Given the description of an element on the screen output the (x, y) to click on. 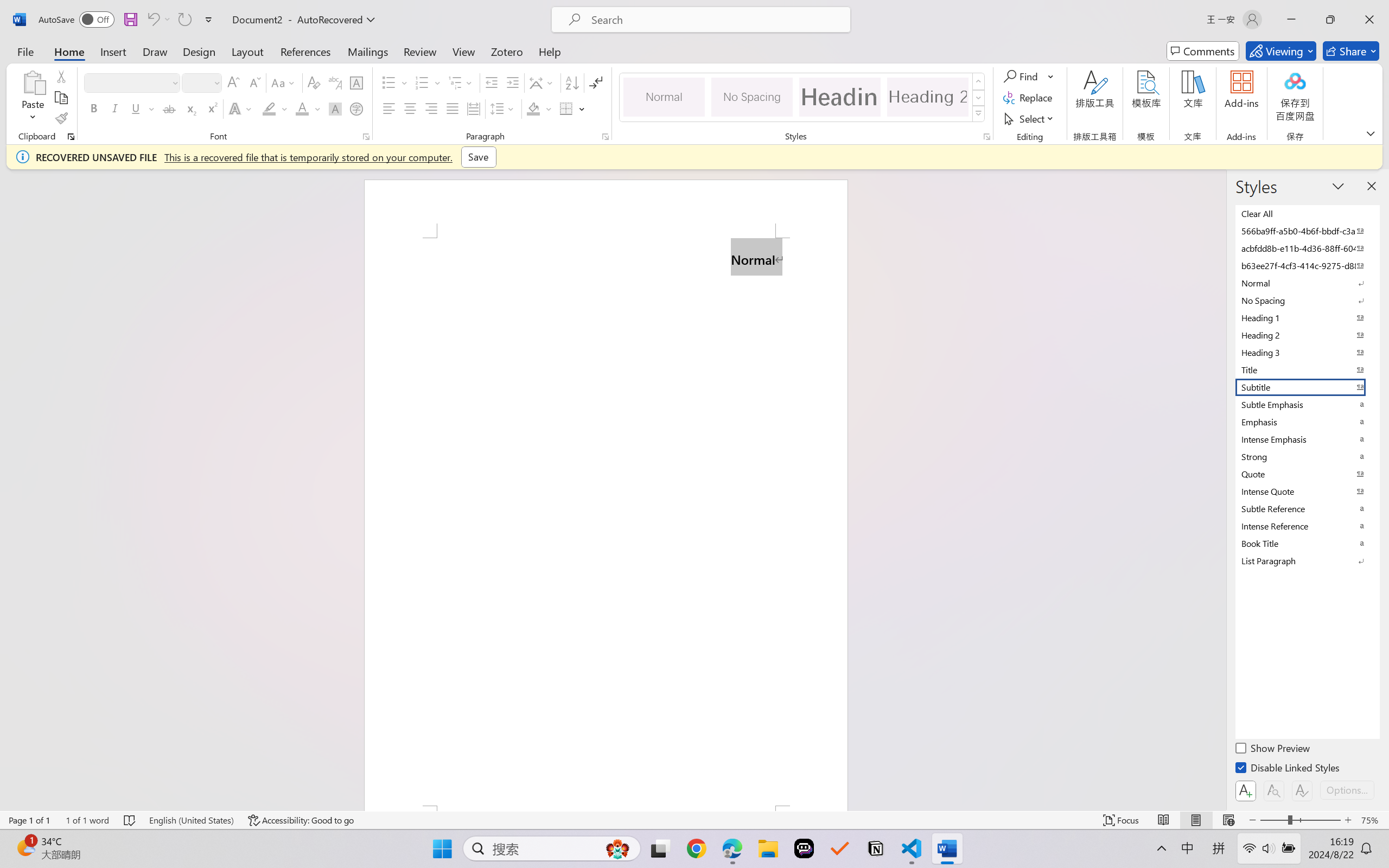
Class: MsoCommandBar (694, 819)
Intense Quote (1306, 490)
b63ee27f-4cf3-414c-9275-d88e3f90795e (1306, 265)
Line and Paragraph Spacing (503, 108)
Superscript (210, 108)
Sort... (571, 82)
Clear Formatting (313, 82)
